Given the description of an element on the screen output the (x, y) to click on. 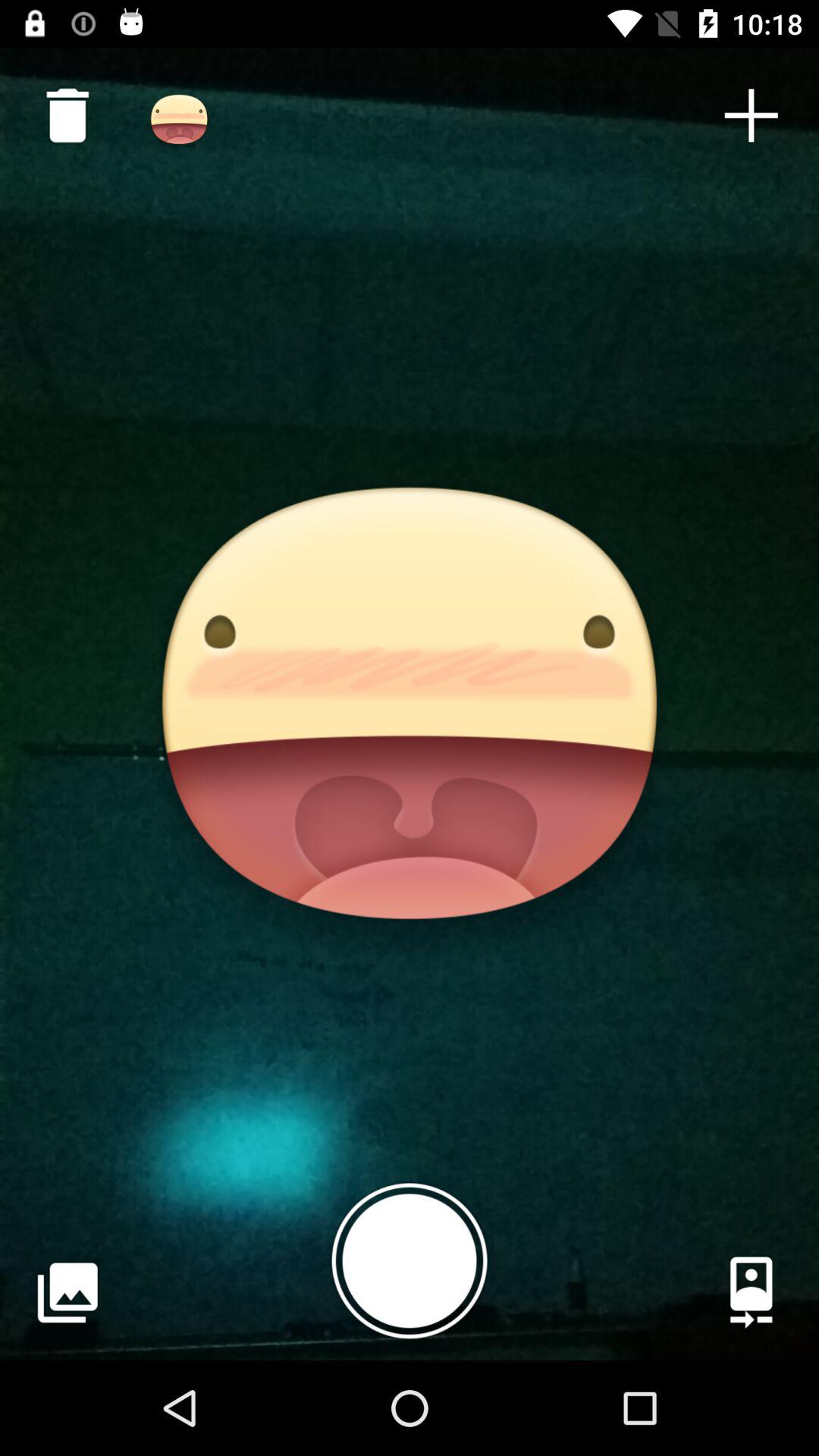
select the item at the bottom left corner (67, 1292)
